Given the description of an element on the screen output the (x, y) to click on. 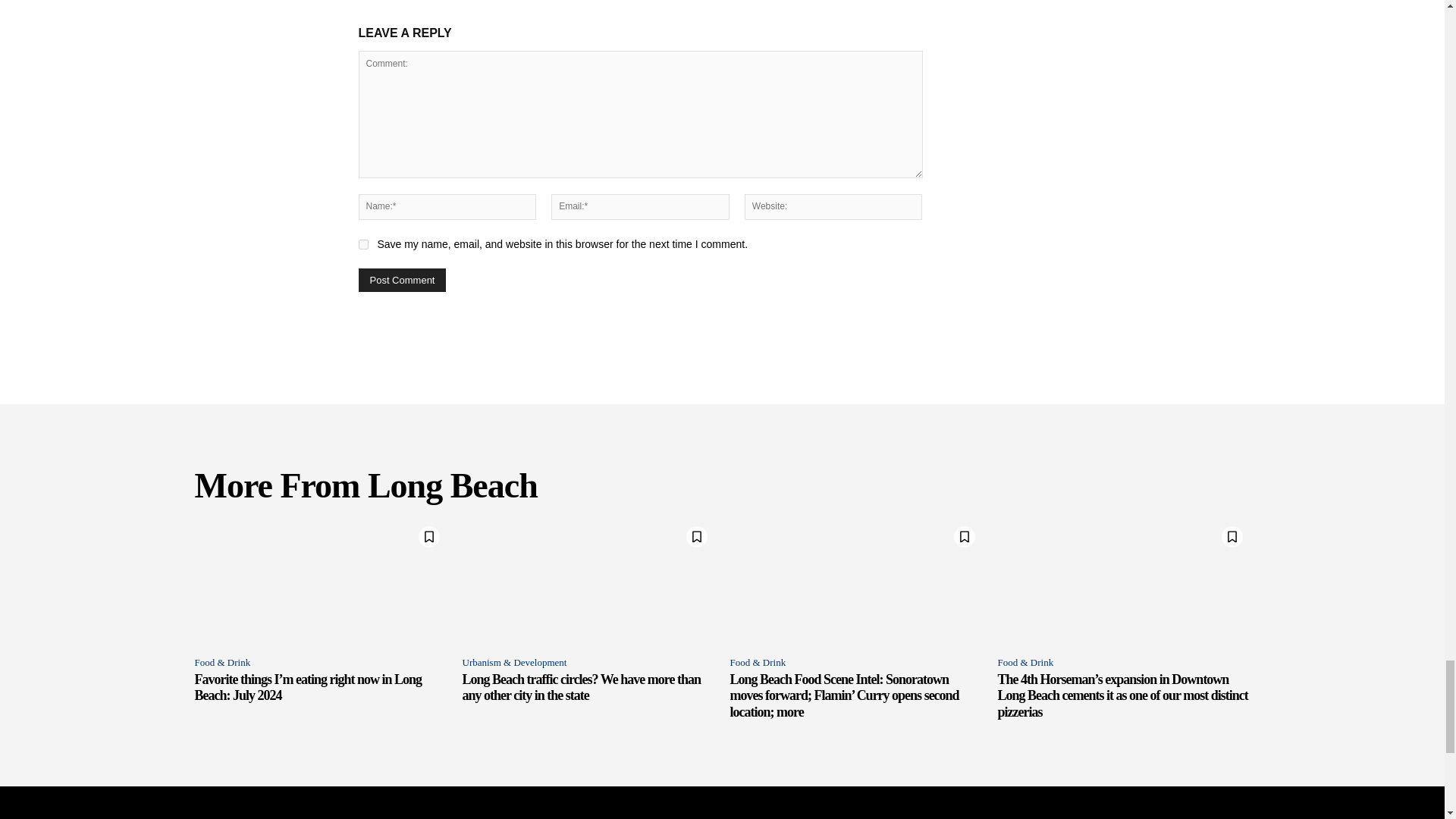
Post Comment (401, 279)
yes (363, 244)
